Given the description of an element on the screen output the (x, y) to click on. 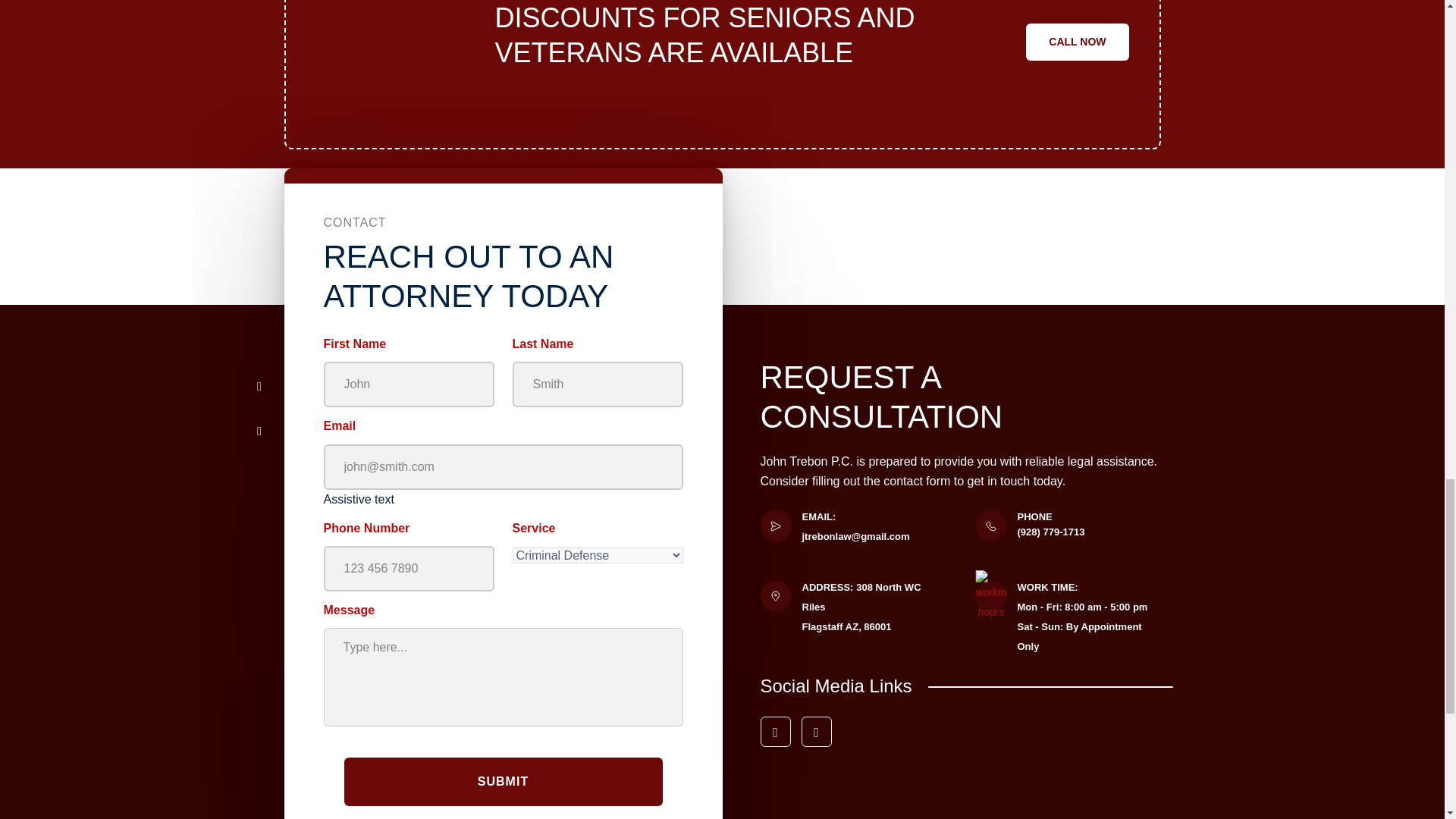
CALL NOW (1077, 41)
Submit (502, 781)
Submit (502, 781)
